Given the description of an element on the screen output the (x, y) to click on. 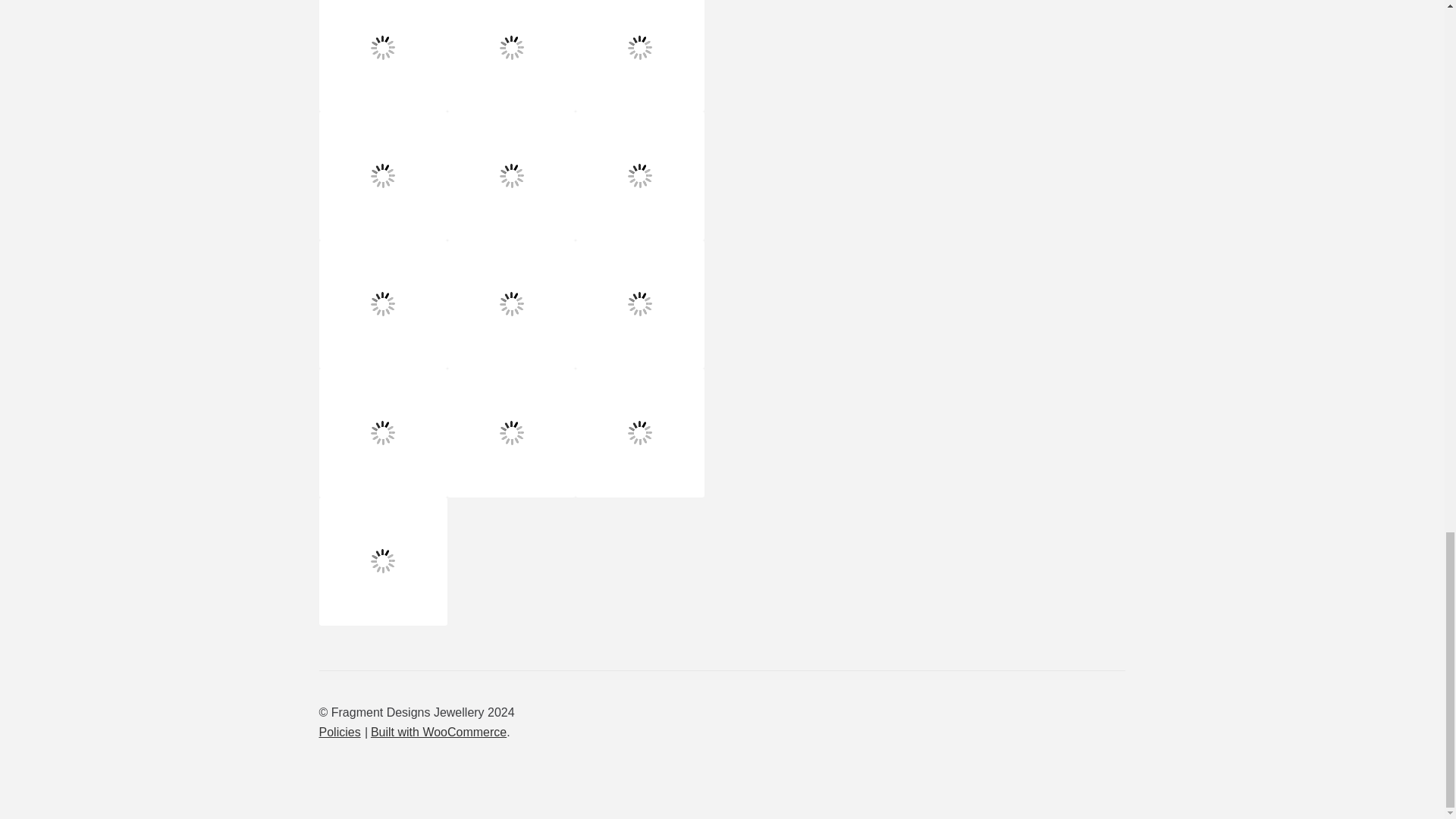
WooCommerce - The Best eCommerce Platform for WordPress (438, 731)
